Given the description of an element on the screen output the (x, y) to click on. 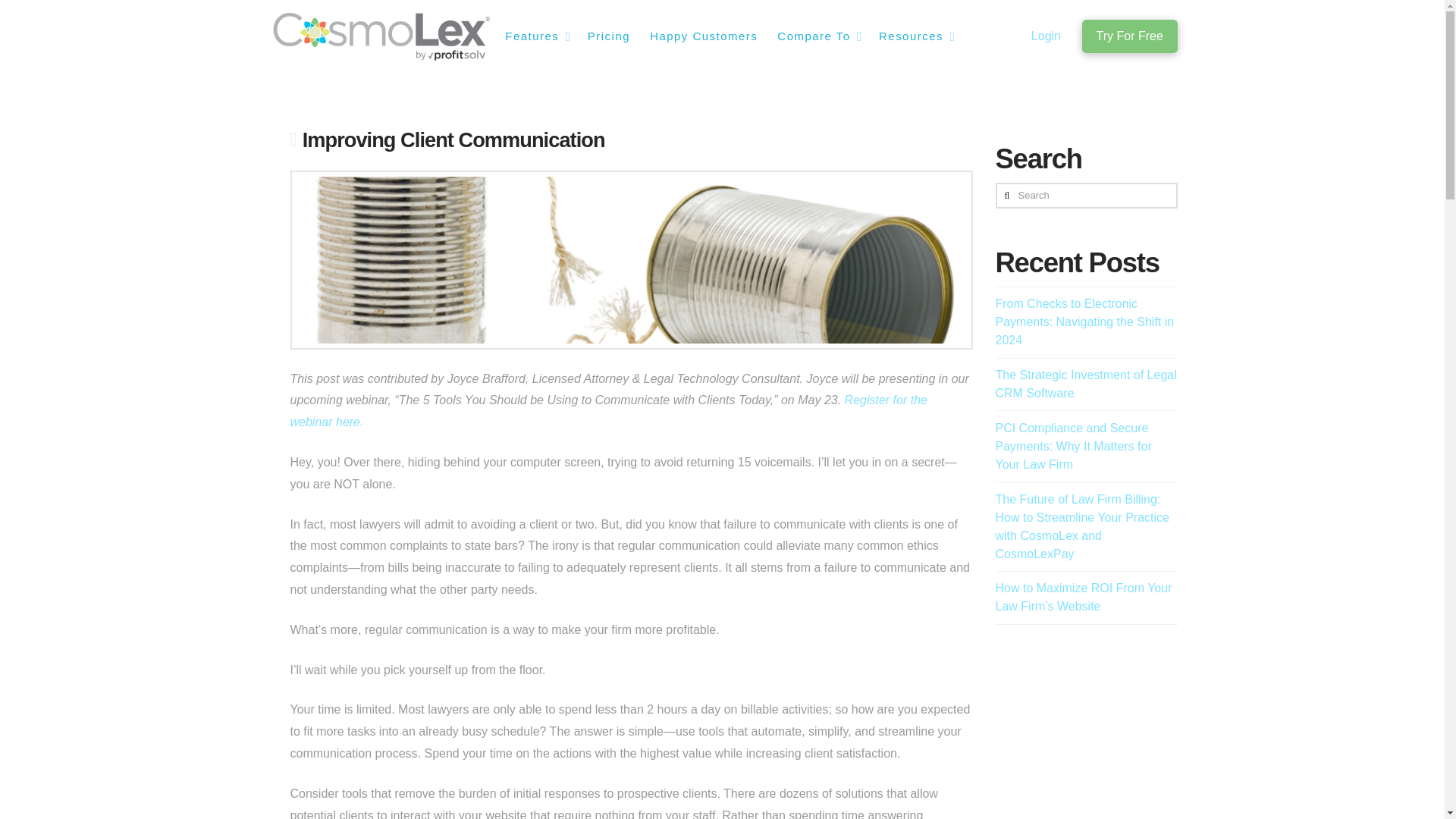
Features (535, 36)
Resources (913, 36)
Happy Customers (703, 36)
Compare To (818, 36)
Login (1045, 35)
Try For Free (1128, 36)
